Given the description of an element on the screen output the (x, y) to click on. 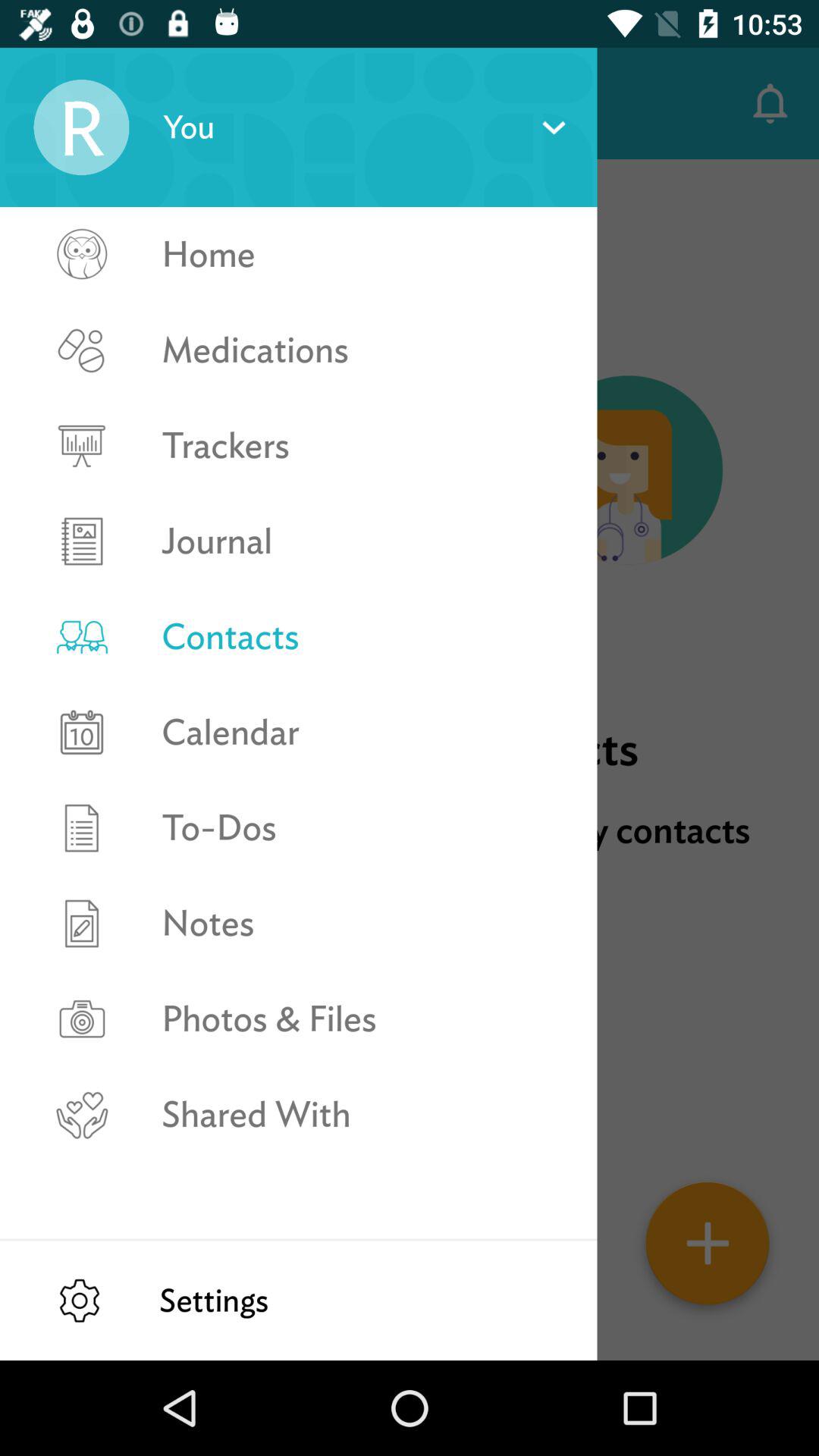
turn on the trackers icon (363, 445)
